Given the description of an element on the screen output the (x, y) to click on. 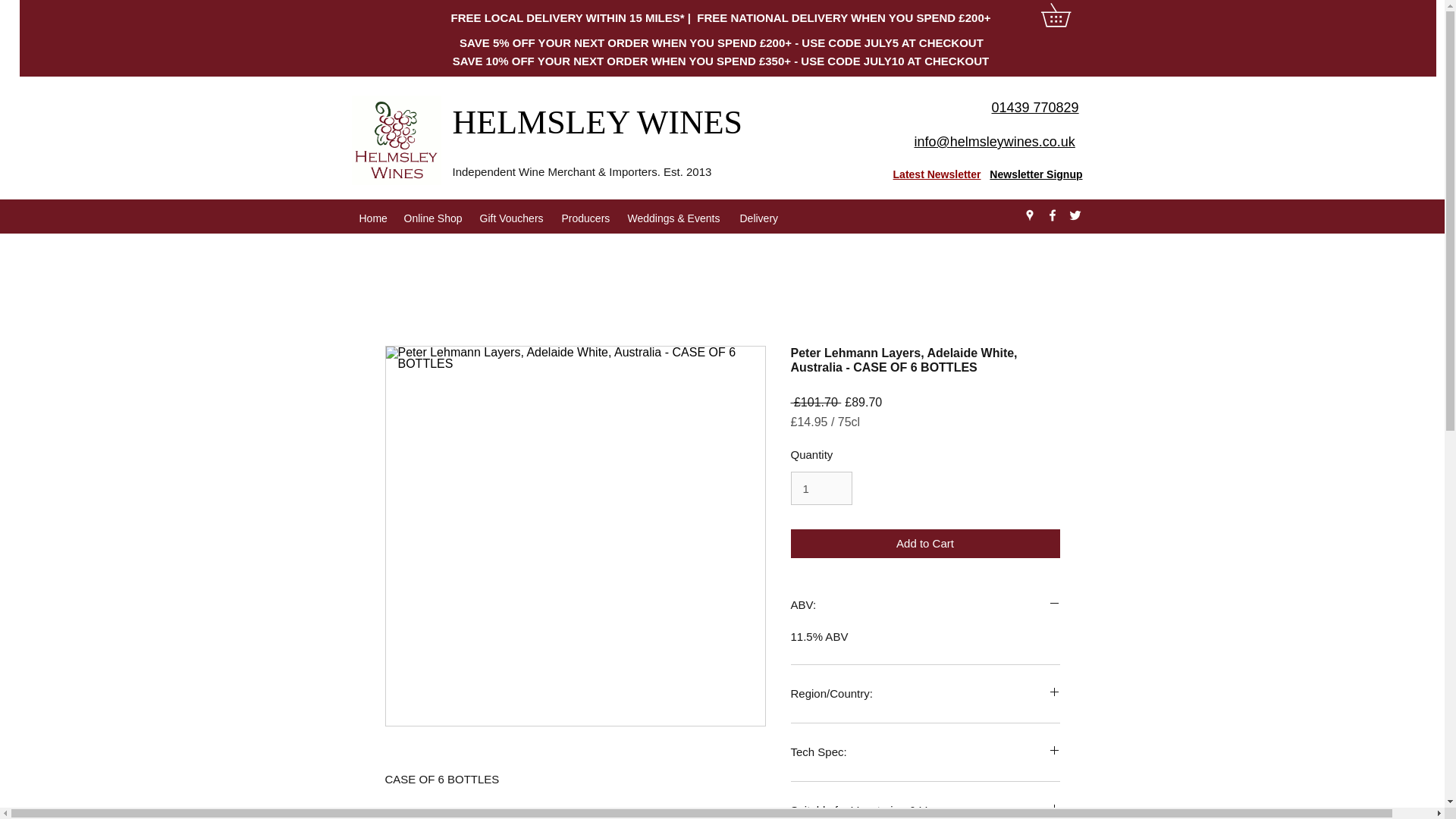
ABV: (924, 604)
Tech Spec: (924, 752)
Home (374, 218)
Online Shop (433, 218)
Newsletter Signup (1035, 174)
Producers (586, 218)
Gift Vouchers (512, 218)
01439 770829 (1034, 107)
Add to Cart (924, 543)
Latest Newsletter (937, 174)
1 (820, 488)
Delivery (759, 218)
HELMSLEY WINES  (601, 122)
